Given the description of an element on the screen output the (x, y) to click on. 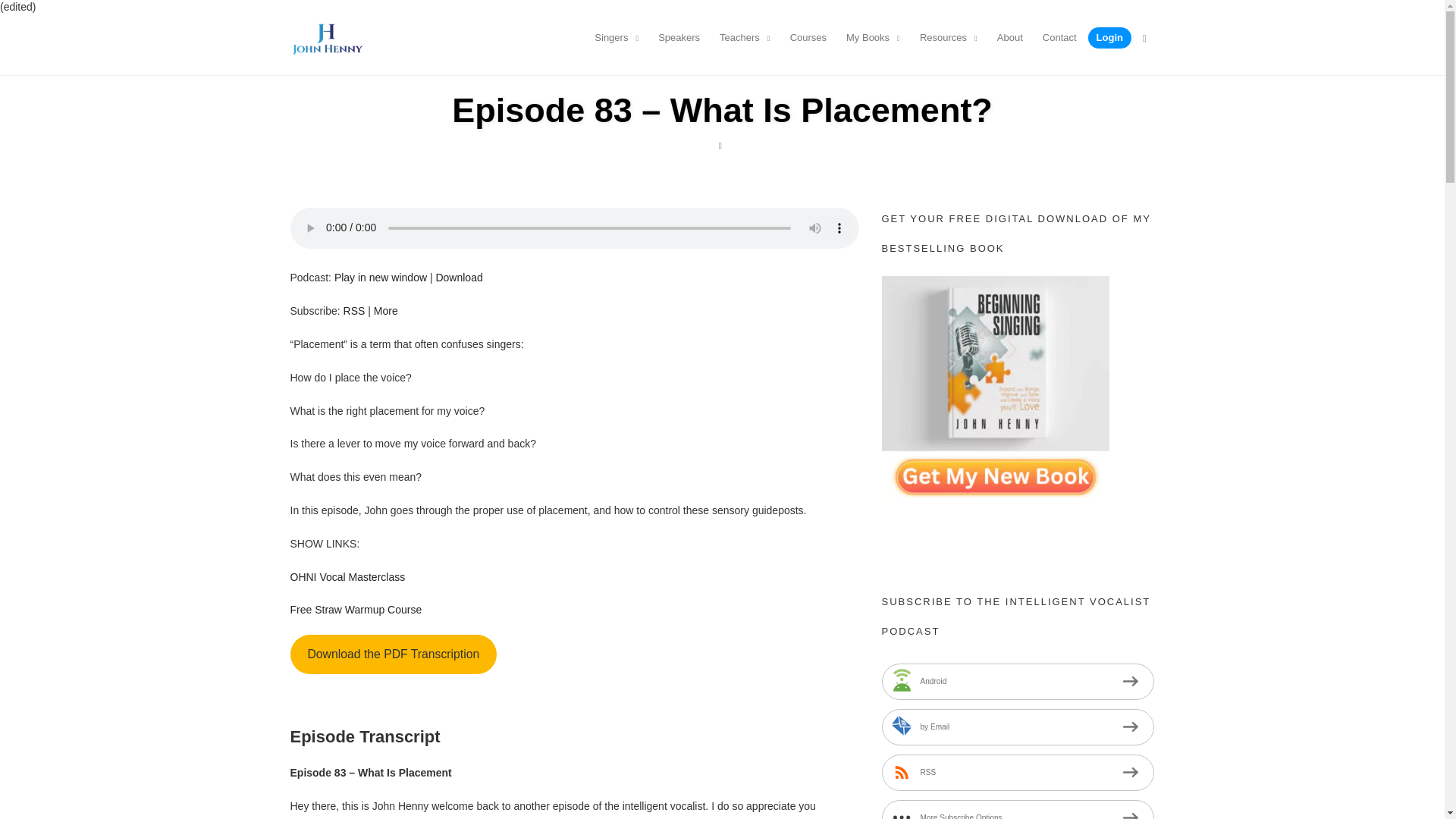
Contact (1059, 37)
John Henny Vocal Studio (325, 37)
Subscribe by Email (1017, 727)
Speakers (679, 37)
Subscribe via RSS (354, 310)
About (1010, 37)
Download (458, 277)
Login (1109, 37)
Open Search Form (1145, 37)
Singers (616, 37)
Resources (949, 37)
Subscribe via RSS (1017, 772)
Play in new window (380, 277)
Download the PDF Transcription (392, 654)
